Given the description of an element on the screen output the (x, y) to click on. 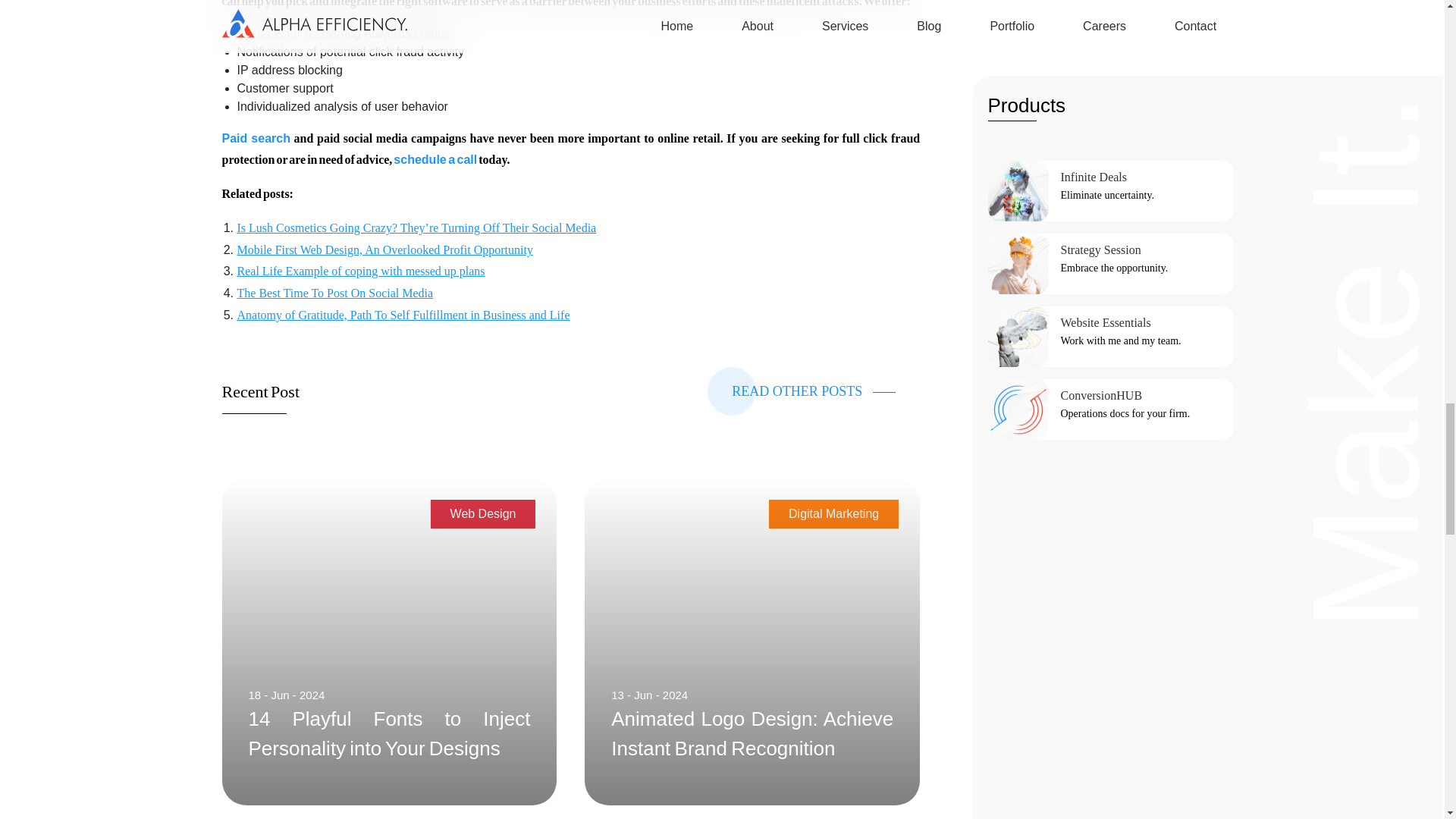
Mobile First Web Design, An Overlooked Profit Opportunity (383, 249)
Real Life Example of coping with messed up plans (359, 270)
The Best Time To Post On Social Media (333, 292)
